Given the description of an element on the screen output the (x, y) to click on. 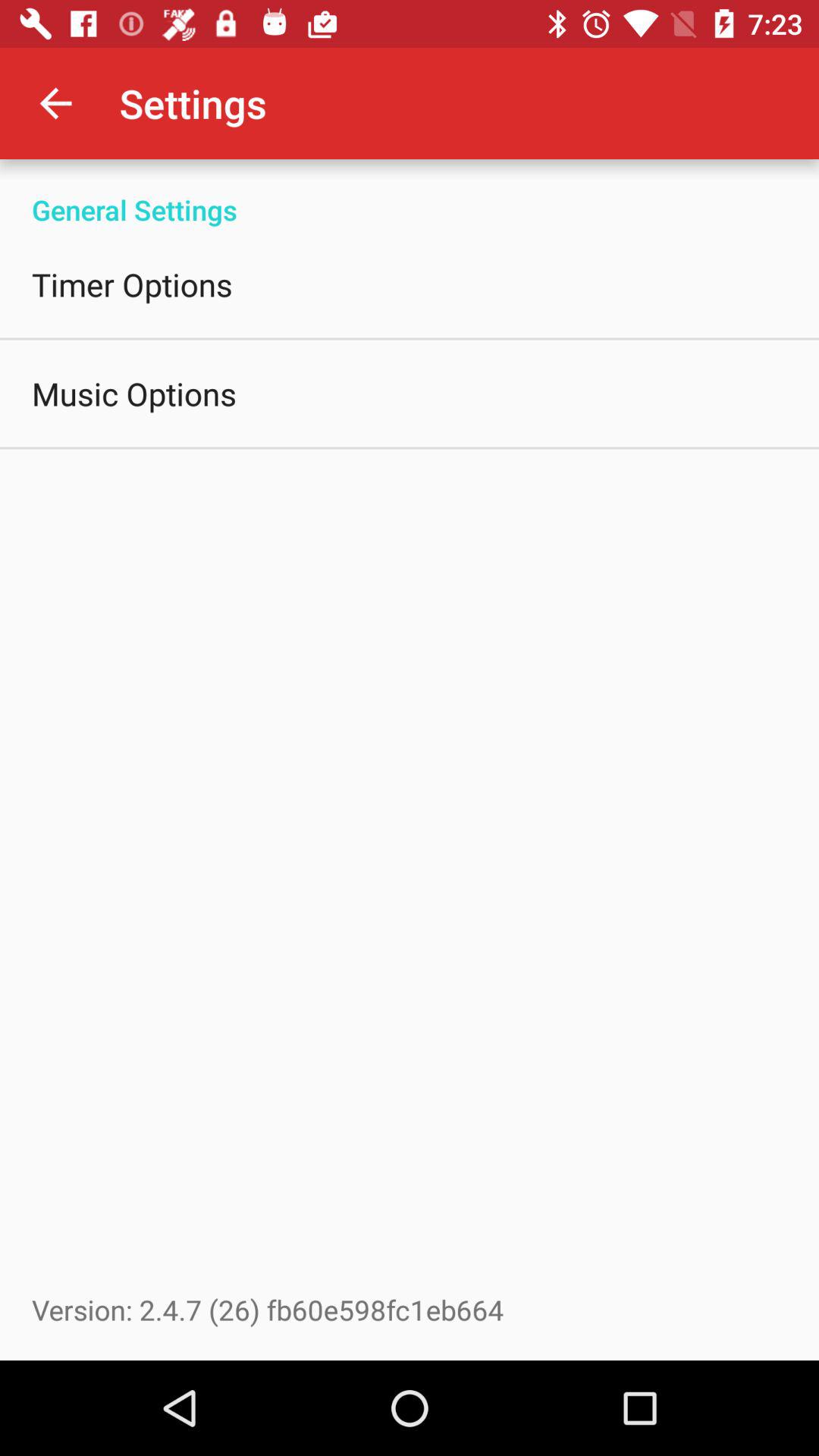
choose music options item (133, 393)
